Given the description of an element on the screen output the (x, y) to click on. 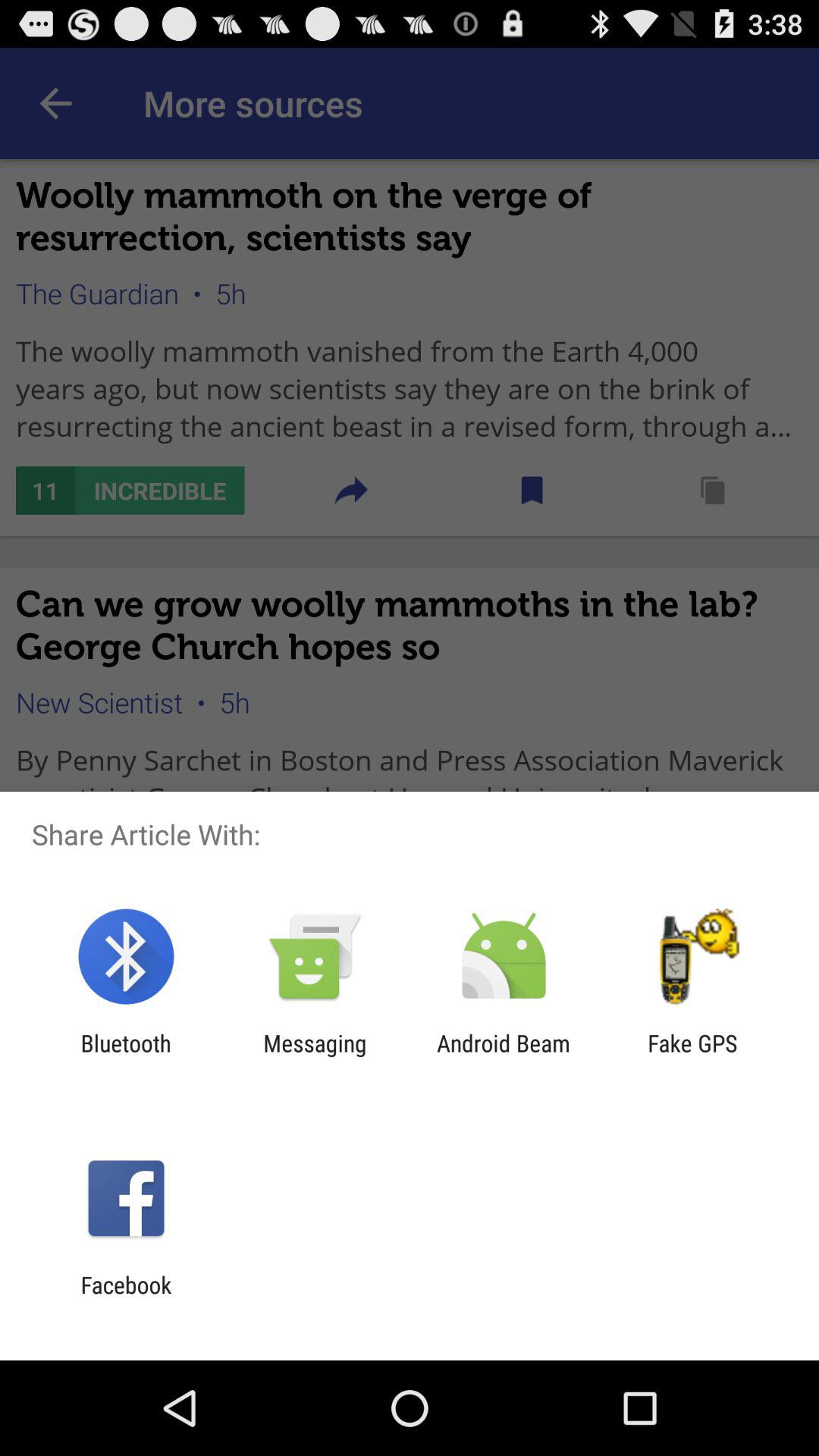
click android beam icon (503, 1056)
